Given the description of an element on the screen output the (x, y) to click on. 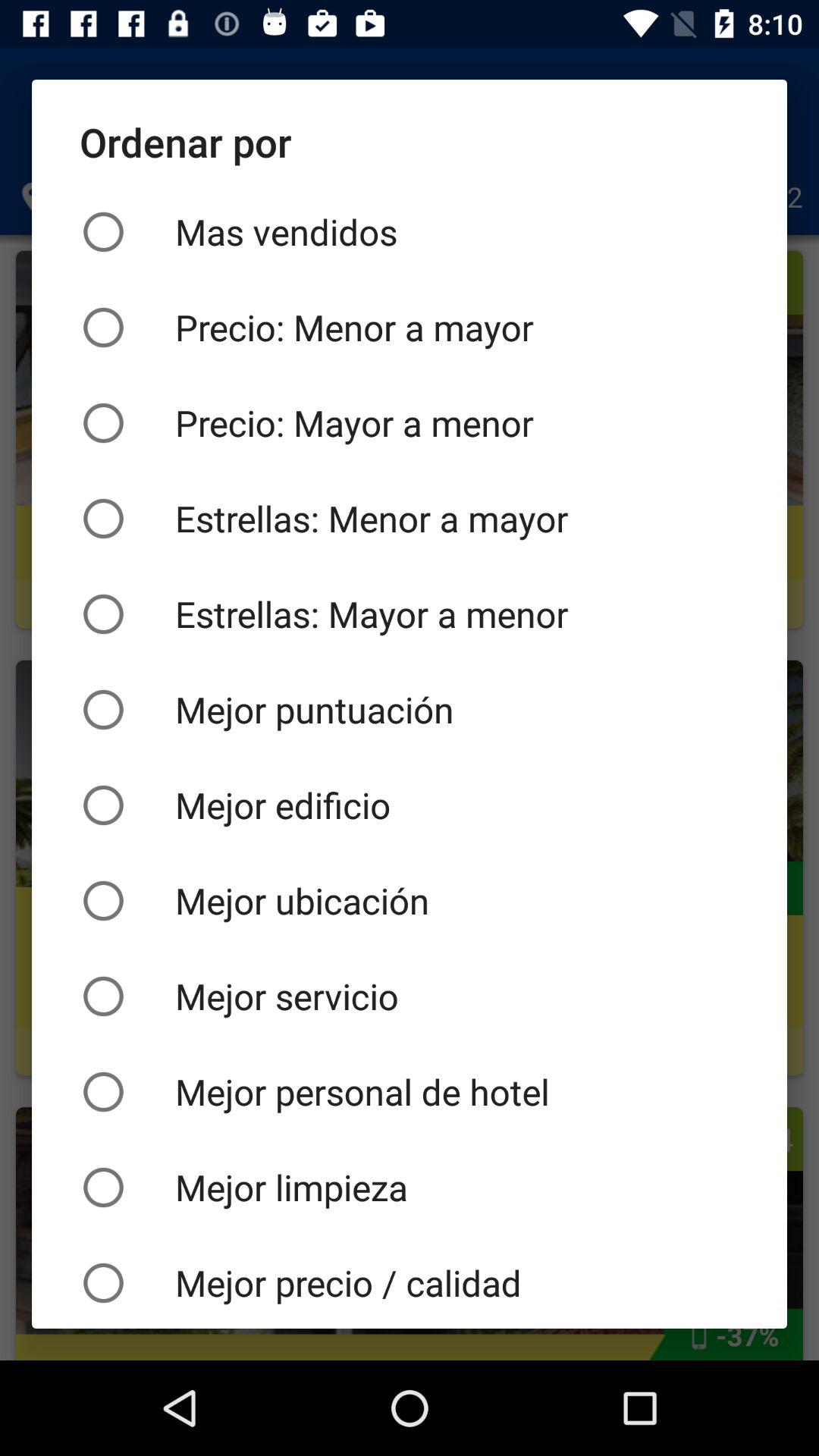
scroll until the mejor limpieza item (409, 1187)
